Given the description of an element on the screen output the (x, y) to click on. 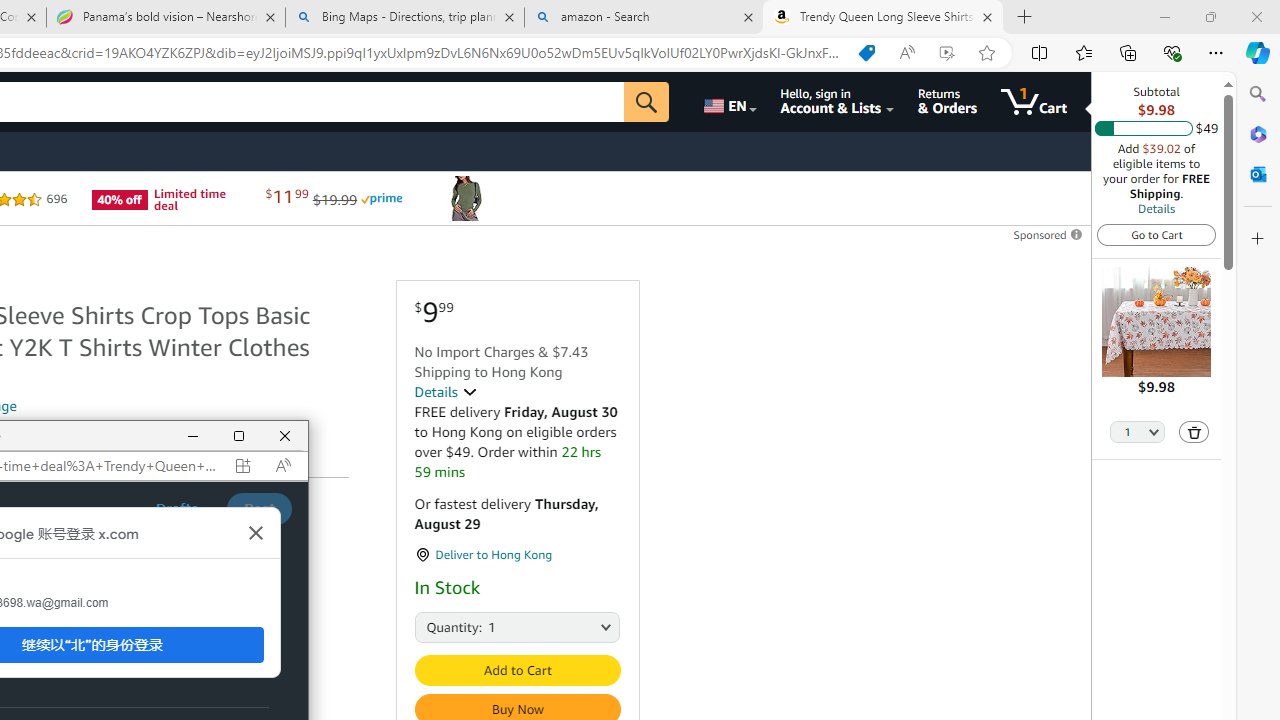
Returns & Orders (946, 101)
Quantity Selector (1137, 433)
Go (646, 101)
Go to Cart (1156, 234)
You have the best price! (867, 53)
